Given the description of an element on the screen output the (x, y) to click on. 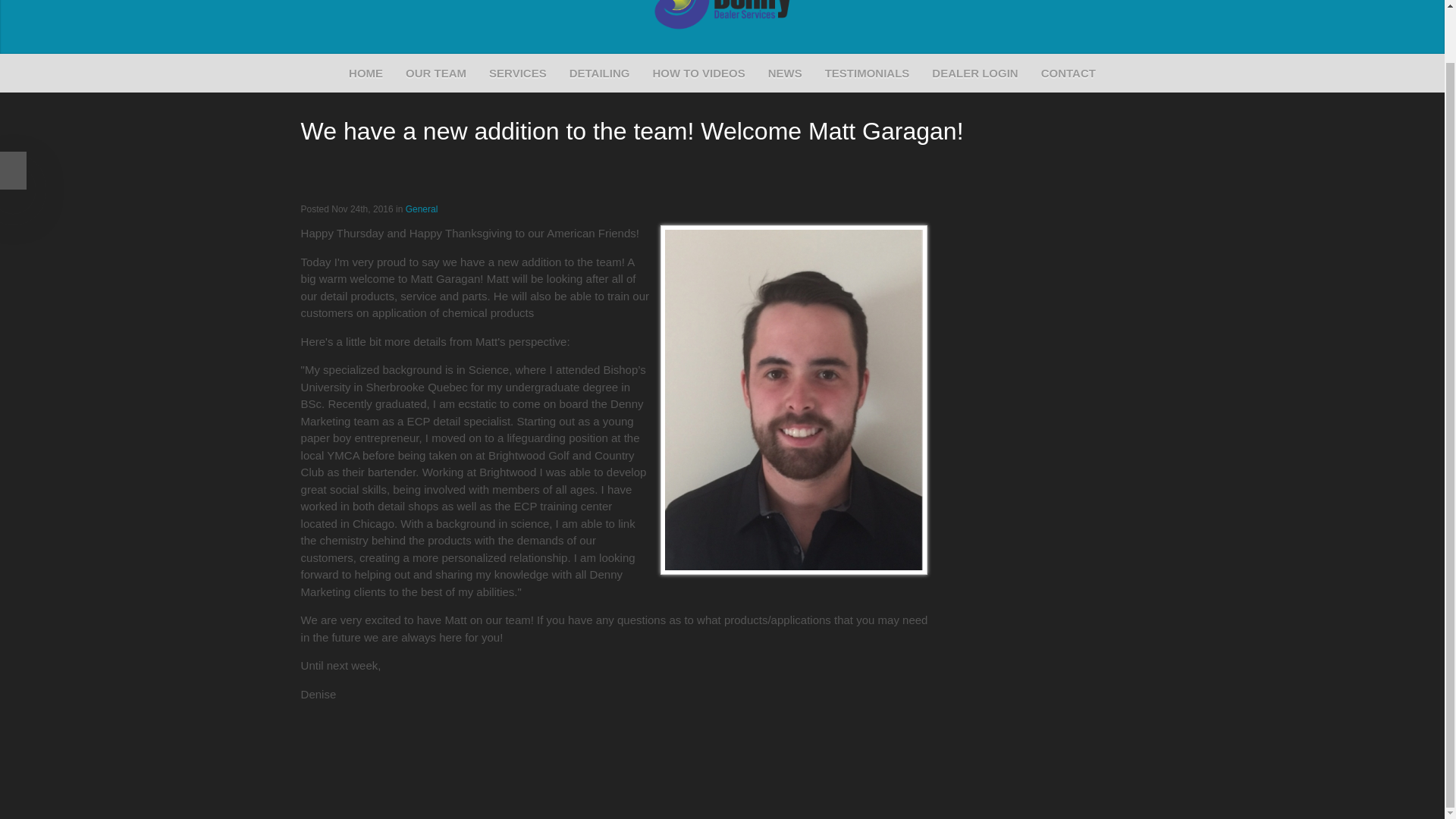
HOW TO VIDEOS (698, 73)
NEWS (785, 73)
SERVICES (518, 73)
Denny's Atlantic Detailing Products (599, 73)
CONTACT (1068, 73)
DEALER LOGIN (974, 73)
OUR TEAM (435, 73)
HOME (365, 73)
DETAILING (599, 73)
TESTIMONIALS (867, 73)
